Given the description of an element on the screen output the (x, y) to click on. 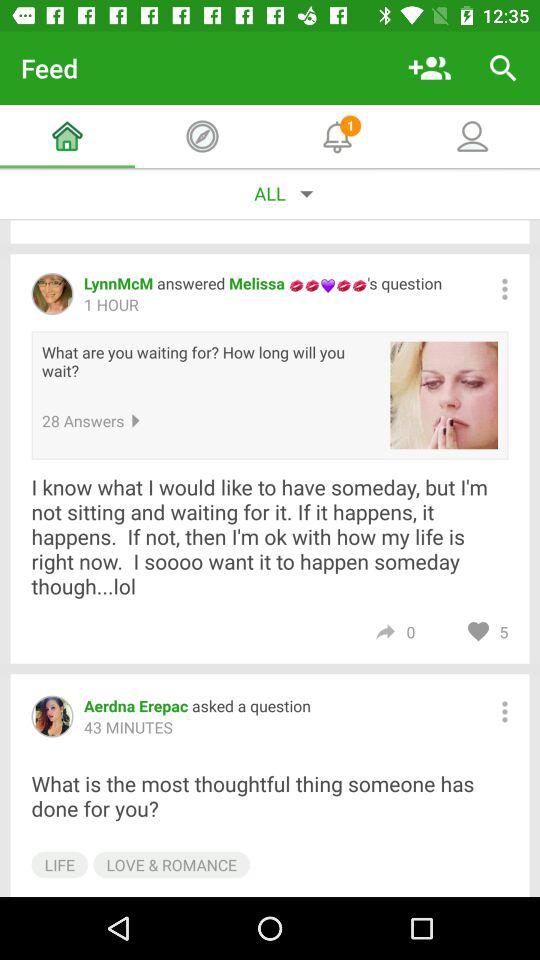
more options (504, 711)
